Given the description of an element on the screen output the (x, y) to click on. 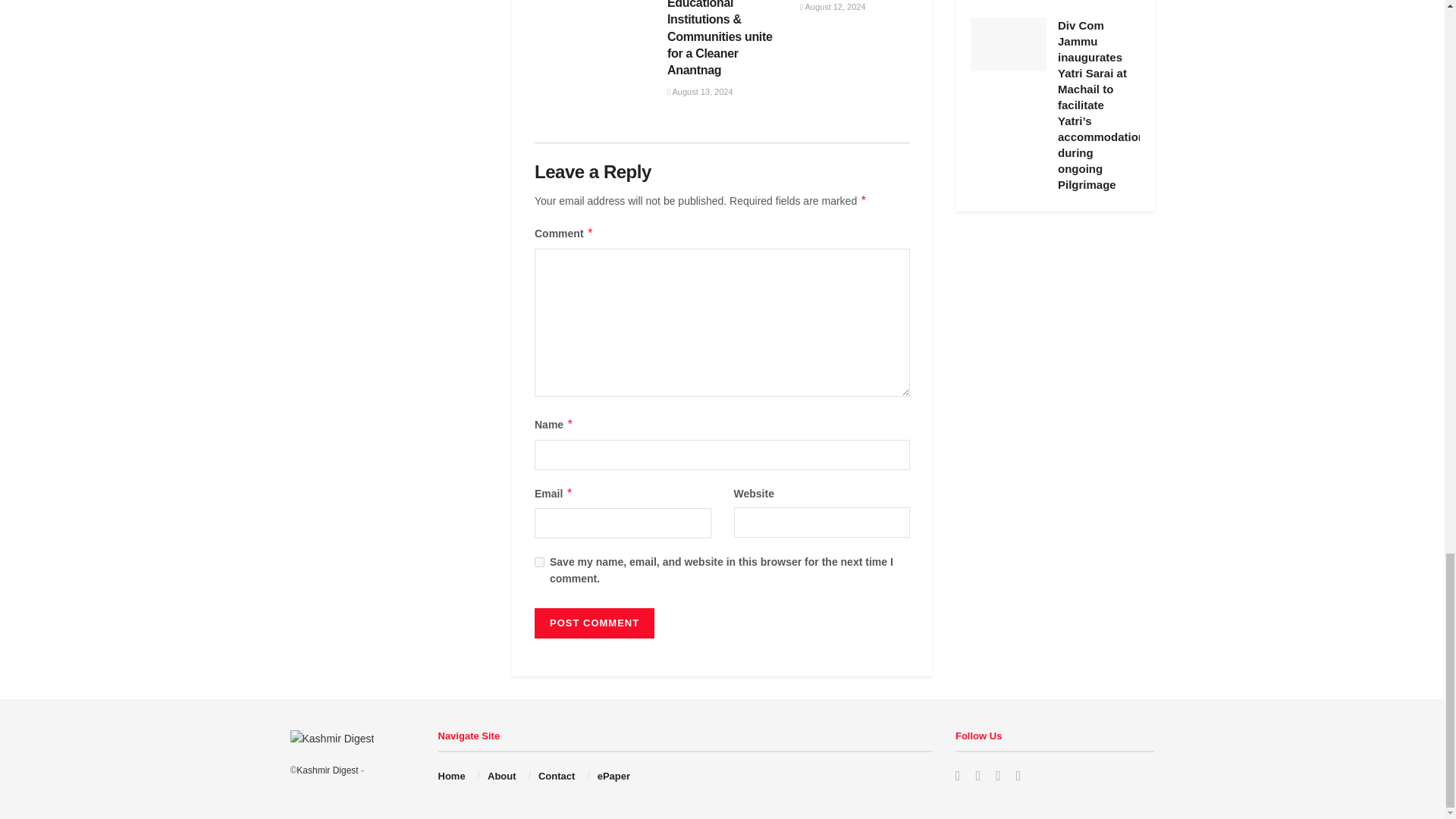
Kashmir Latest News (327, 769)
yes (539, 562)
Post Comment (593, 623)
